Given the description of an element on the screen output the (x, y) to click on. 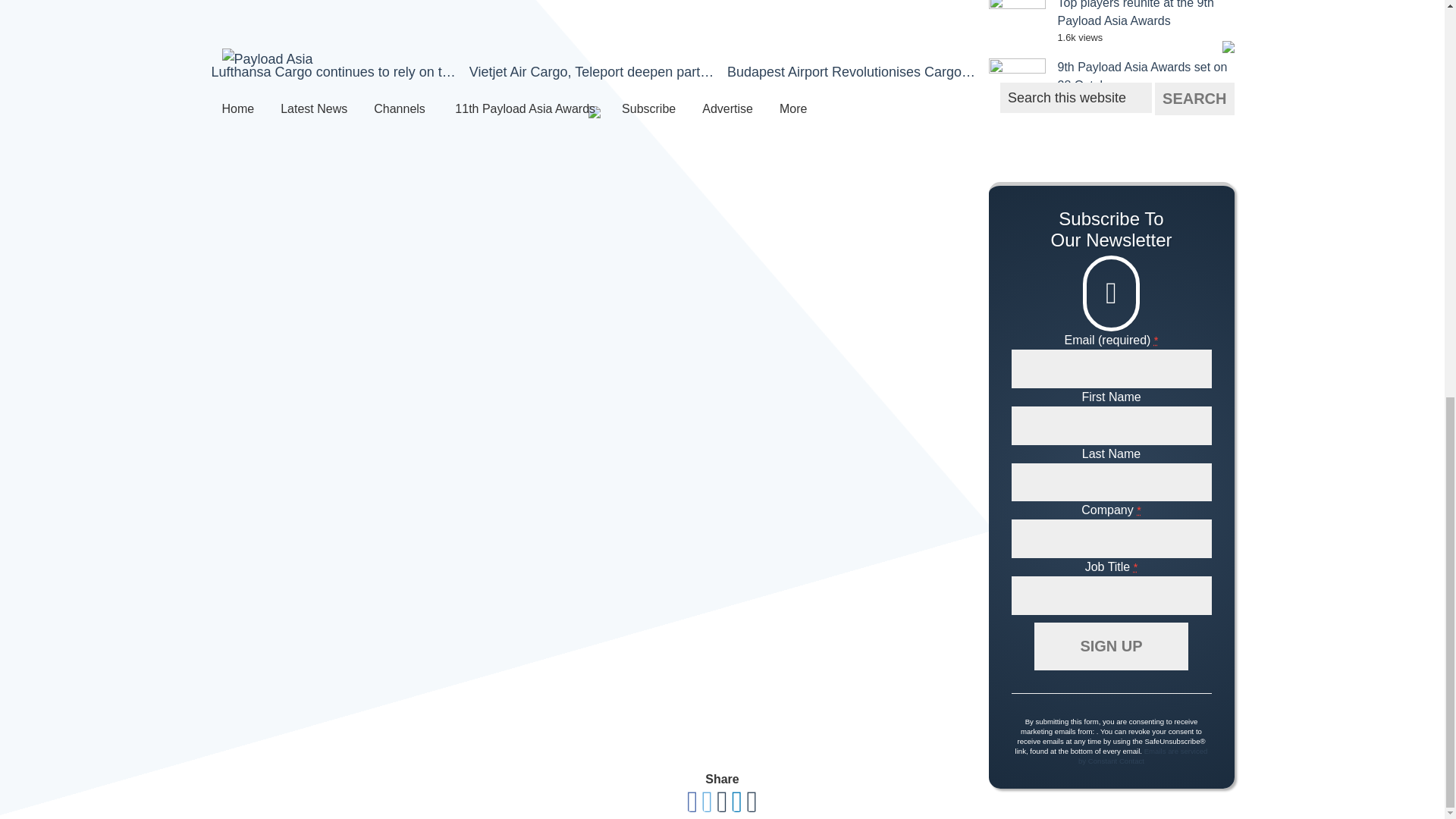
Sign up (1110, 646)
